Given the description of an element on the screen output the (x, y) to click on. 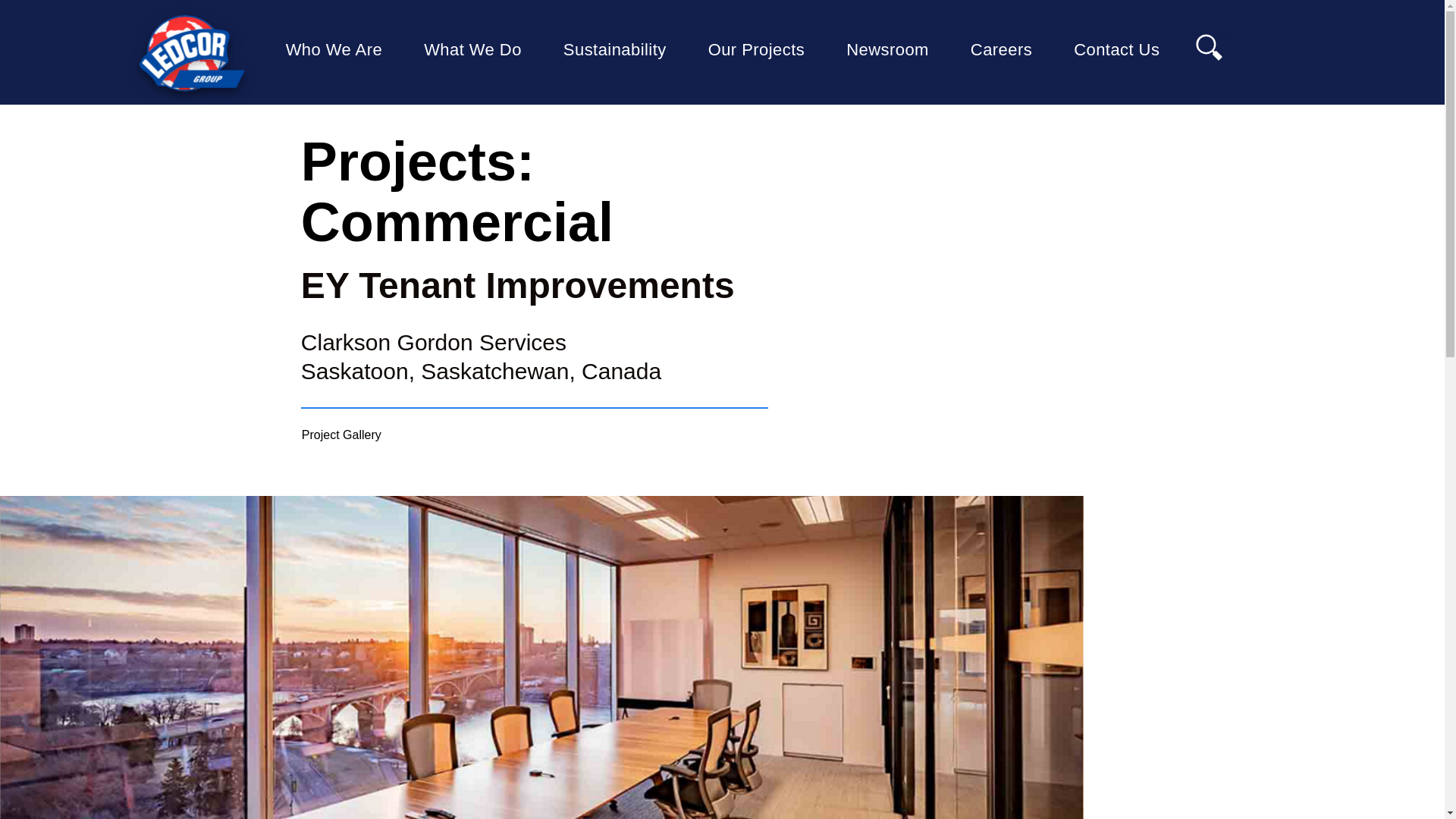
Skip navigation (334, 51)
EY Tenant Improvements (670, 20)
